Given the description of an element on the screen output the (x, y) to click on. 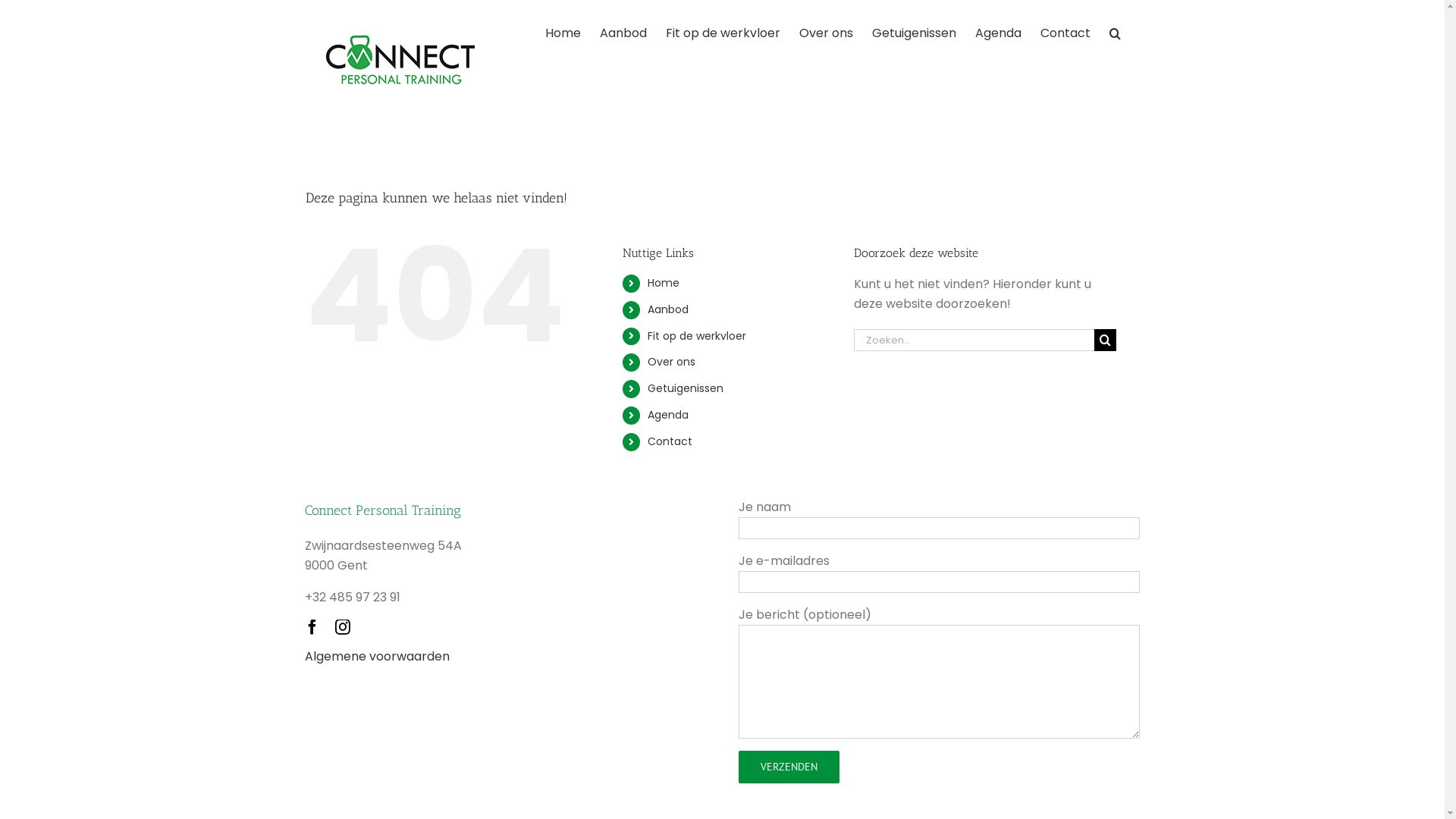
Getuigenissen Element type: text (914, 31)
Contact Element type: text (1065, 31)
Home Element type: text (663, 282)
Contact Element type: text (669, 440)
Zoeken Element type: hover (1114, 31)
Getuigenissen Element type: text (685, 387)
Home Element type: text (562, 31)
Aanbod Element type: text (622, 31)
Verzenden Element type: text (788, 766)
Fit op de werkvloer Element type: text (722, 31)
Agenda Element type: text (998, 31)
Fit op de werkvloer Element type: text (696, 335)
Over ons Element type: text (826, 31)
Agenda Element type: text (667, 414)
Aanbod Element type: text (667, 308)
Over ons Element type: text (671, 361)
Algemene voorwaarden Element type: text (376, 656)
